Given the description of an element on the screen output the (x, y) to click on. 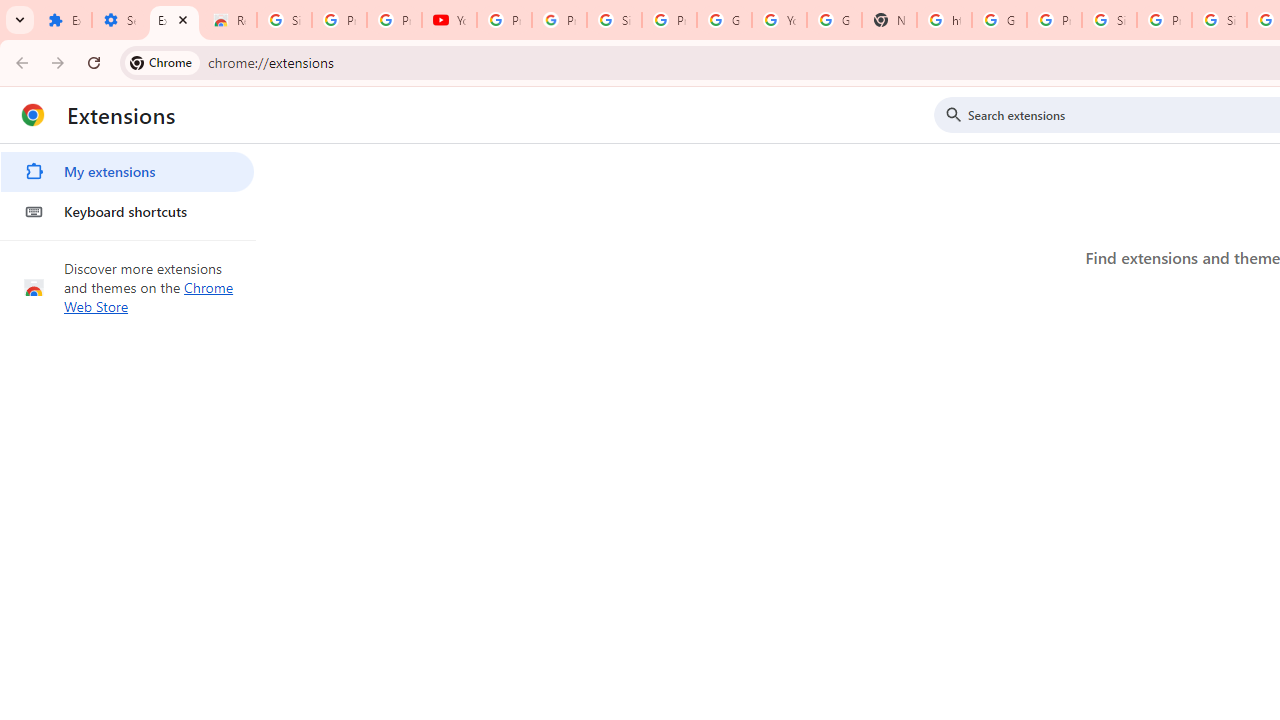
Sign in - Google Accounts (1218, 20)
Sign in - Google Accounts (614, 20)
New Tab (888, 20)
YouTube (779, 20)
Settings (119, 20)
https://scholar.google.com/ (943, 20)
YouTube (449, 20)
Chrome Web Store (149, 296)
